Given the description of an element on the screen output the (x, y) to click on. 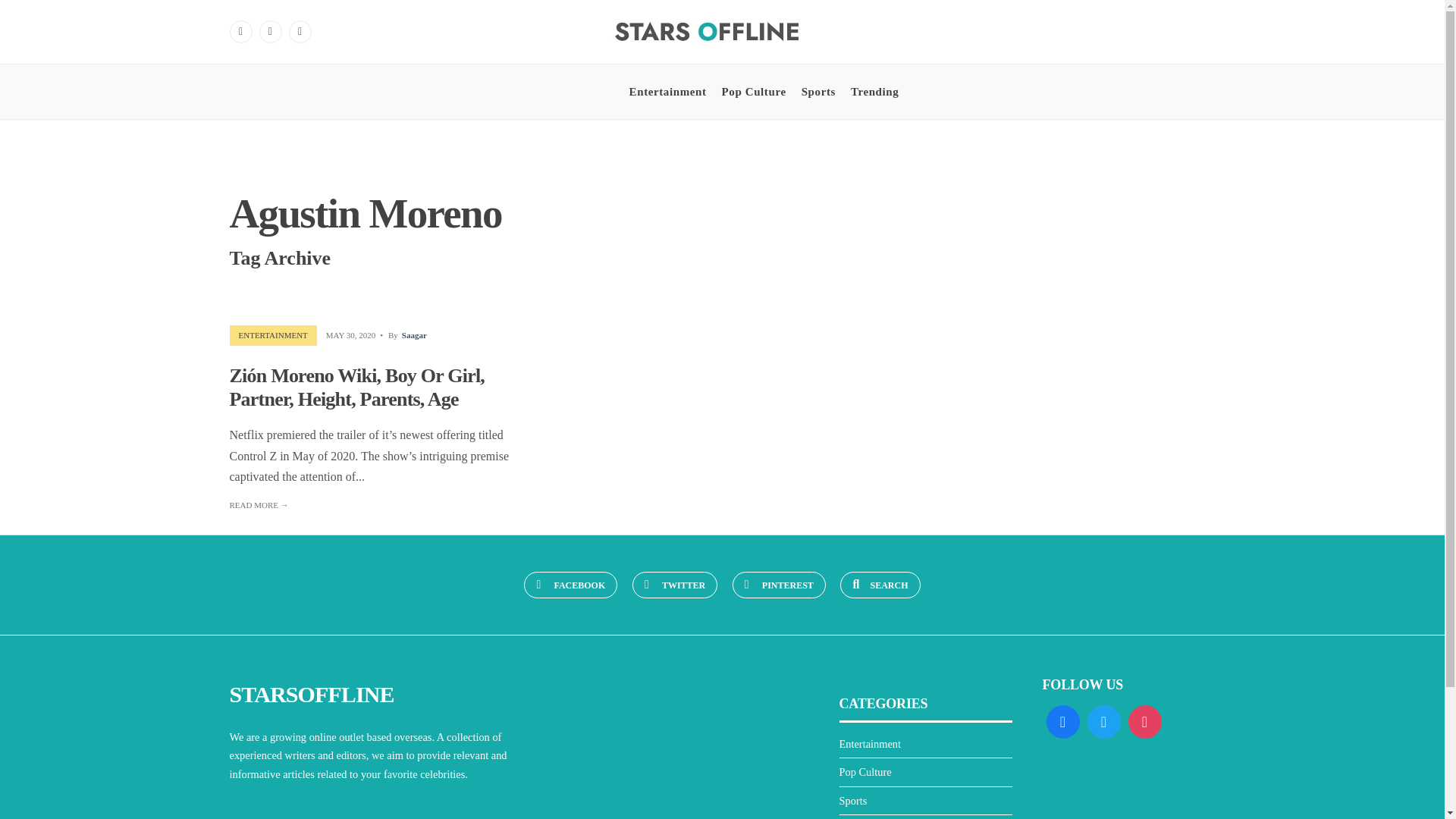
Posts by Saagar (413, 334)
Entertainment (869, 743)
Pop Culture (864, 771)
ENTERTAINMENT (272, 334)
TWITTER (674, 584)
SEARCH (880, 584)
Pinterest (778, 584)
FACEBOOK (570, 584)
Entertainment (667, 91)
Sports (852, 800)
PINTEREST (778, 584)
Pinterest (299, 31)
Pop Culture (754, 91)
Sports (818, 91)
Saagar (413, 334)
